Given the description of an element on the screen output the (x, y) to click on. 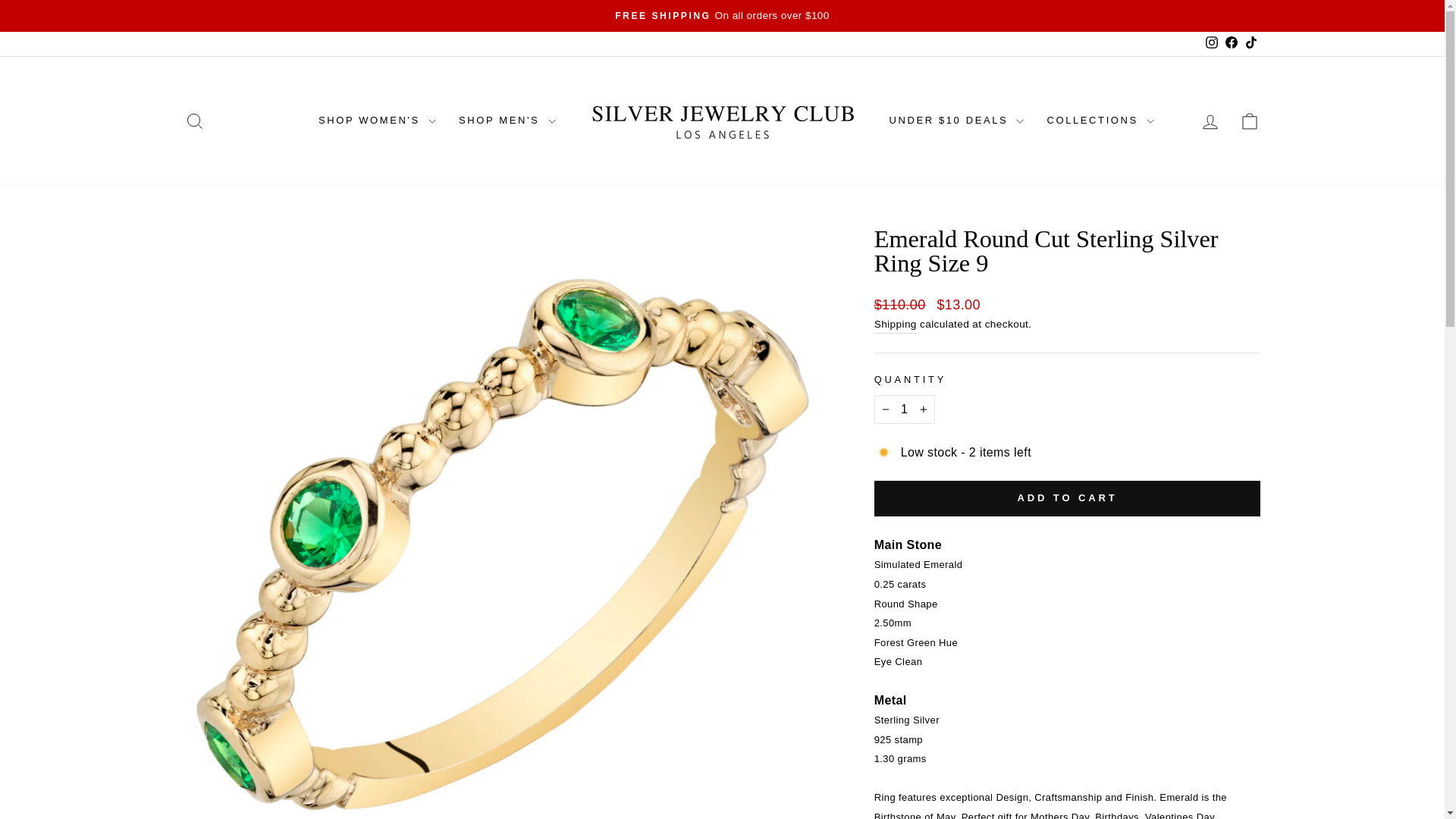
1 (904, 409)
ACCOUNT (1210, 121)
ICON-SEARCH (194, 120)
instagram (1211, 42)
ICON-BAG-MINIMAL (194, 120)
